Given the description of an element on the screen output the (x, y) to click on. 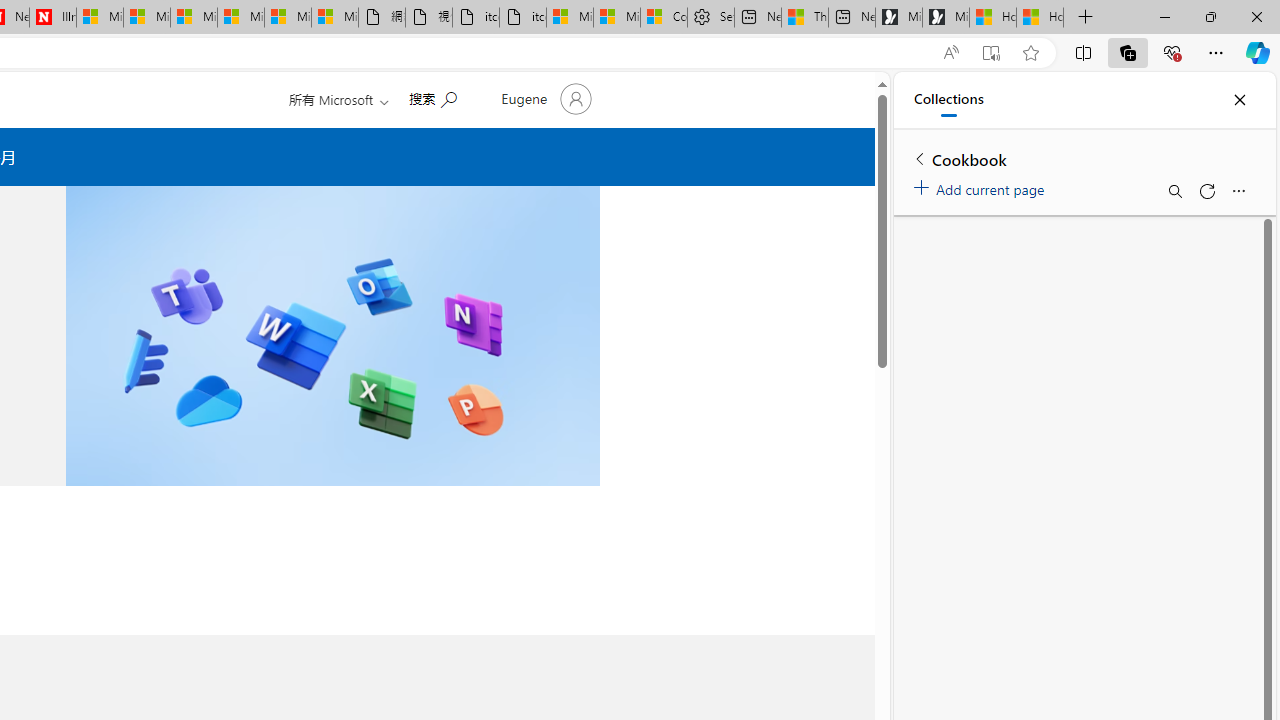
Illness news & latest pictures from Newsweek.com (52, 17)
Add current page (982, 186)
Three Ways To Stop Sweating So Much (805, 17)
Consumer Health Data Privacy Policy (664, 17)
Back to list of collections (920, 158)
